Given the description of an element on the screen output the (x, y) to click on. 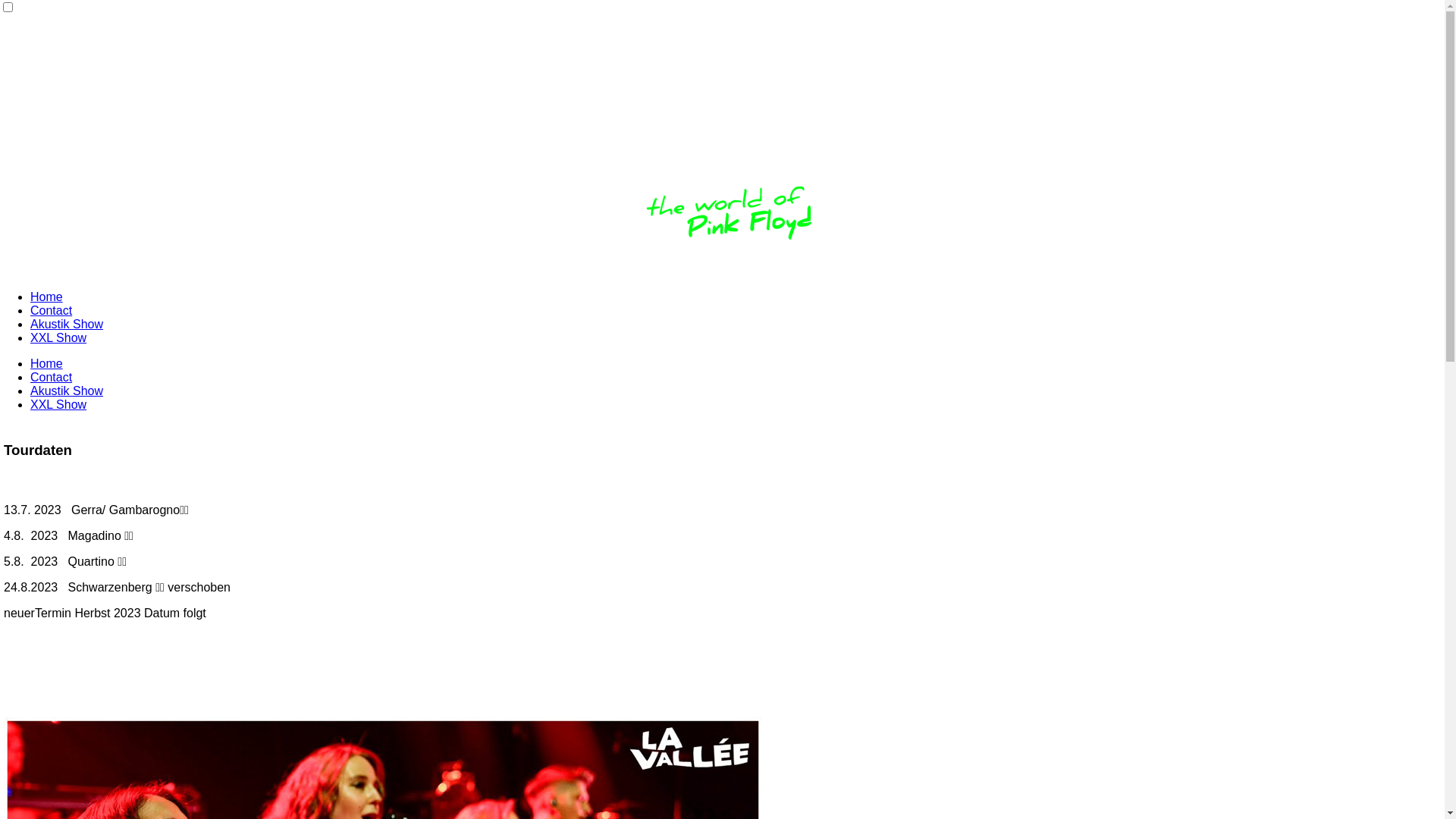
Contact Element type: text (51, 310)
Contact Element type: text (51, 376)
Akustik Show Element type: text (66, 390)
XXL Show Element type: text (58, 404)
XXL Show Element type: text (58, 337)
Akustik Show Element type: text (66, 323)
Home Element type: text (46, 363)
Home Element type: text (46, 296)
